Given the description of an element on the screen output the (x, y) to click on. 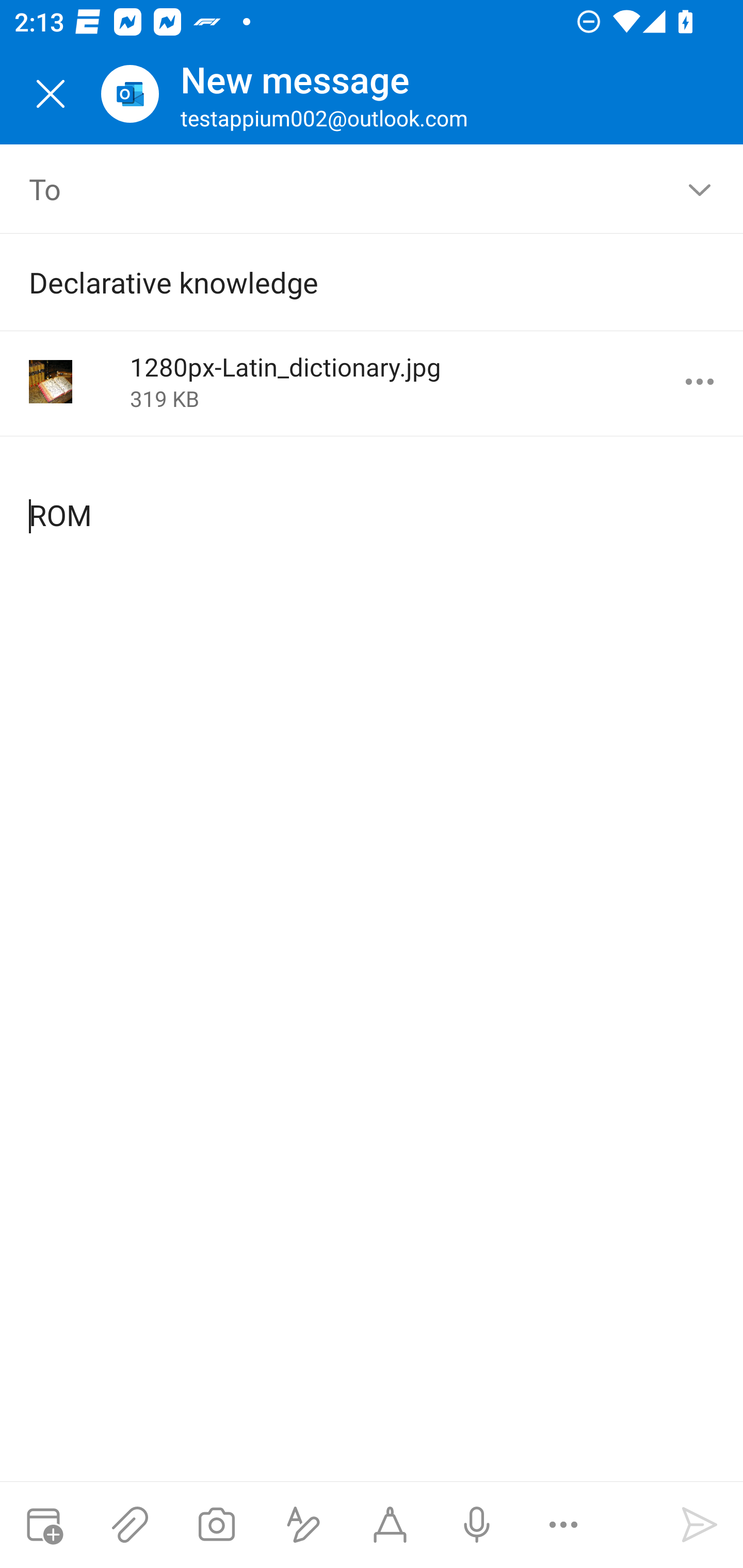
Close (50, 93)
Declarative knowledge (342, 281)
1280px-Latin_dictionary.jpg 319 KB More options (371, 382)
More options (699, 381)

ROM (372, 499)
Attach meeting (43, 1524)
Attach files (129, 1524)
Take a photo (216, 1524)
Show formatting options (303, 1524)
Start Ink compose (389, 1524)
Dictation (476, 1524)
More options (563, 1524)
Send (699, 1524)
